Given the description of an element on the screen output the (x, y) to click on. 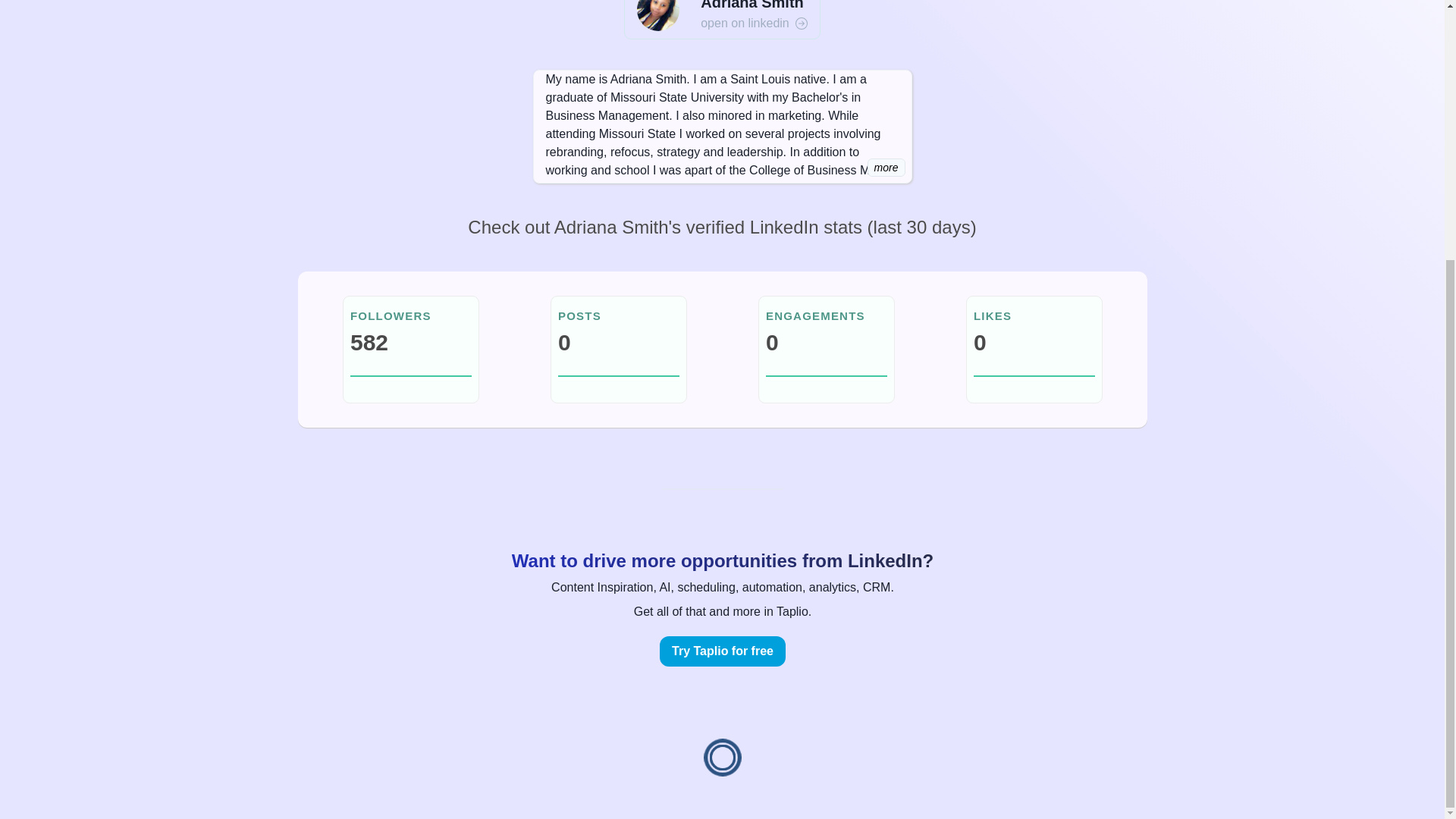
Try Taplio for free (722, 650)
open on linkedin (754, 23)
more (886, 167)
